Given the description of an element on the screen output the (x, y) to click on. 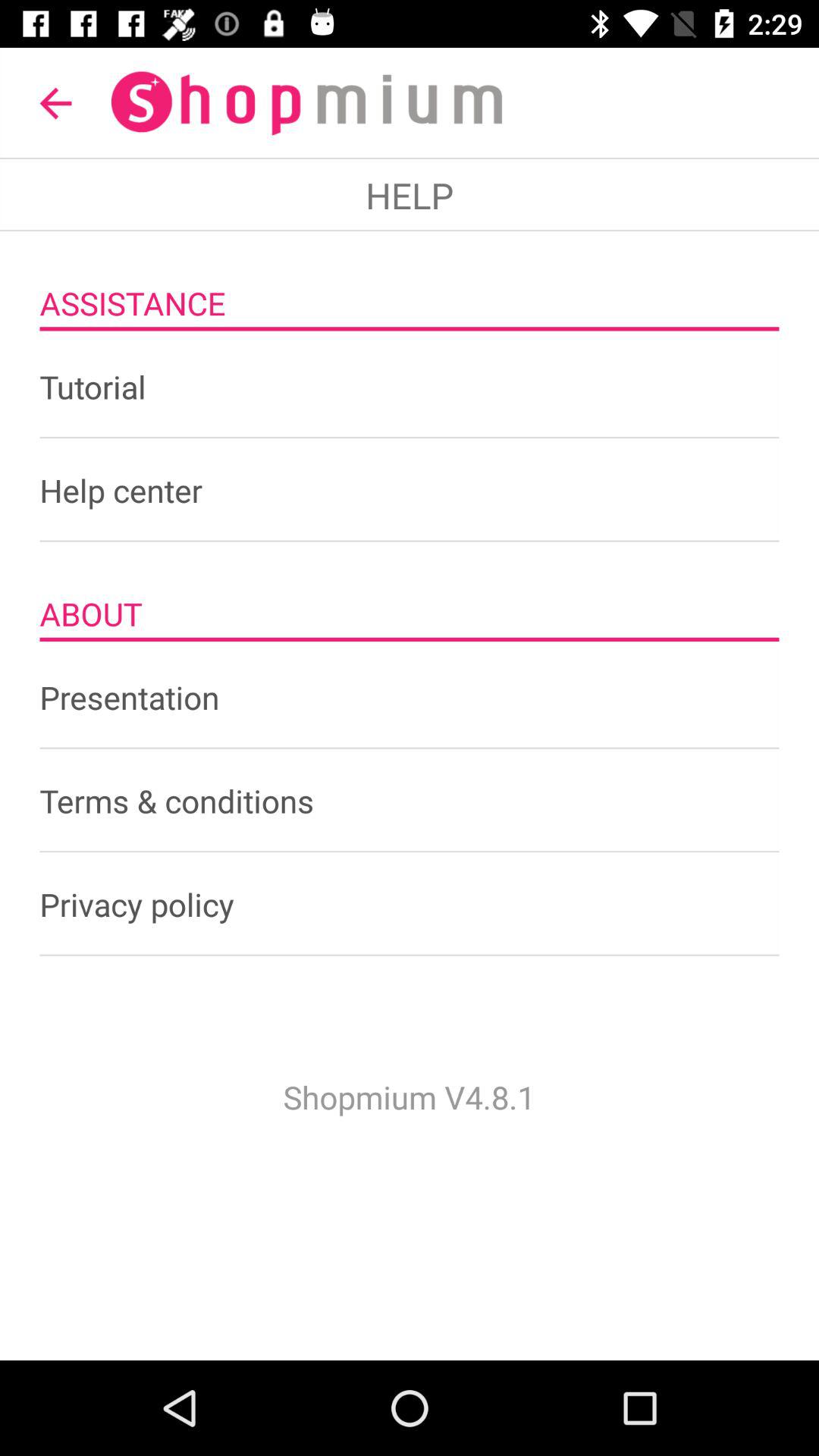
swipe until the privacy policy icon (409, 904)
